Given the description of an element on the screen output the (x, y) to click on. 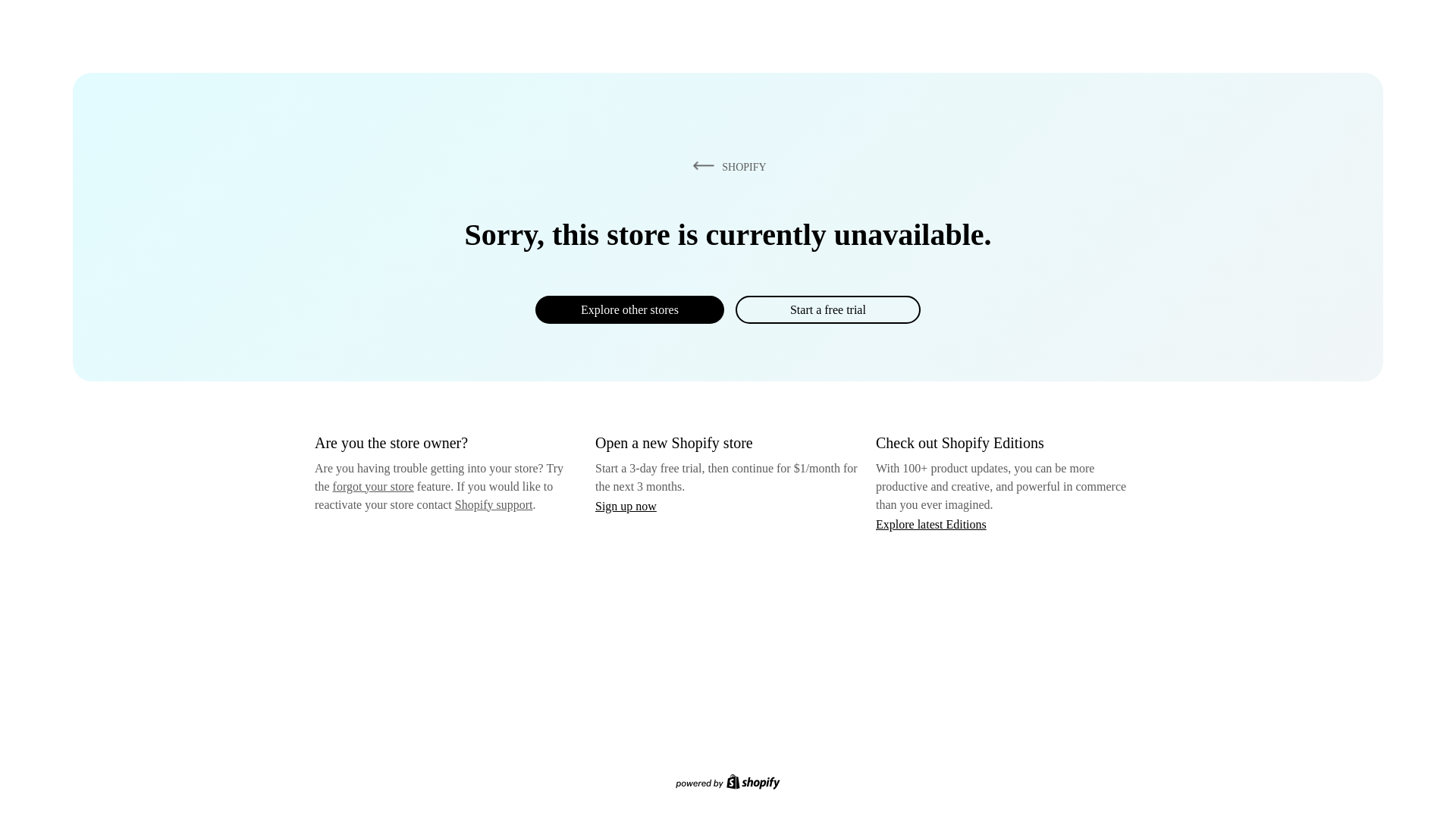
Sign up now (625, 505)
SHOPIFY (726, 166)
Explore other stores (629, 309)
Shopify support (493, 504)
Start a free trial (827, 309)
Explore latest Editions (931, 523)
forgot your store (373, 486)
